Given the description of an element on the screen output the (x, y) to click on. 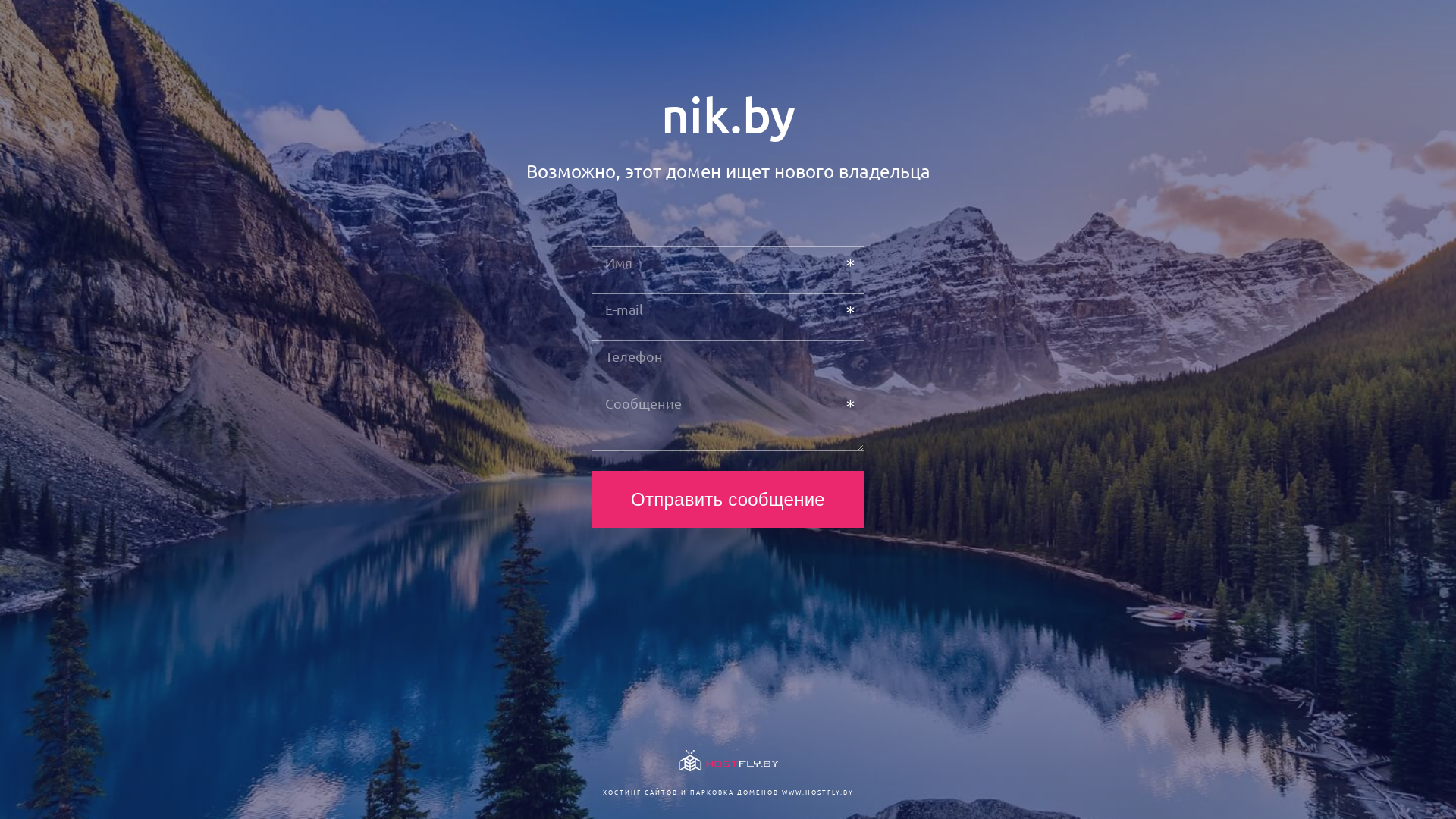
WWW.HOSTFLY.BY Element type: text (817, 791)
